Given the description of an element on the screen output the (x, y) to click on. 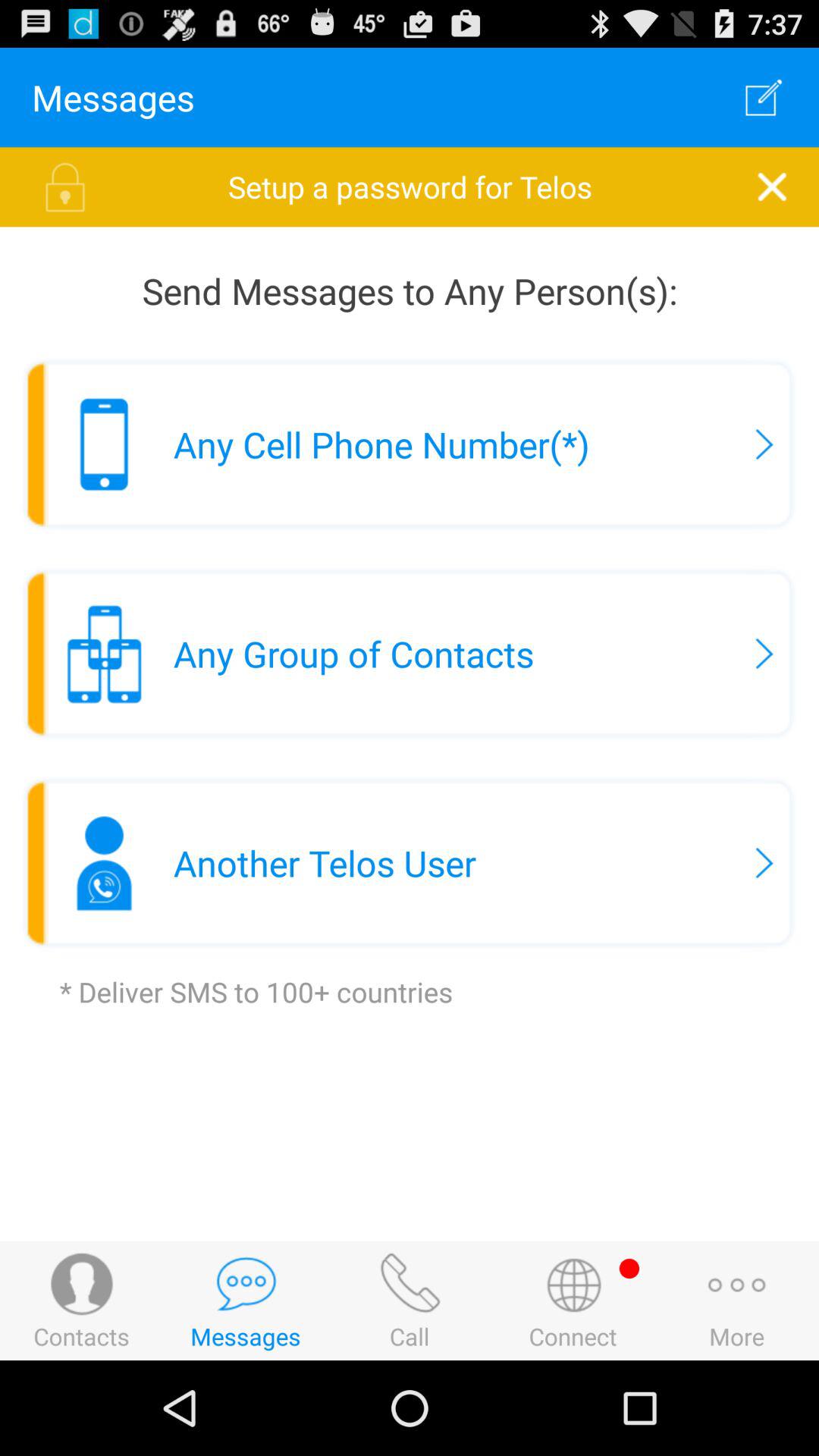
select the icon next to the messages item (763, 97)
